Given the description of an element on the screen output the (x, y) to click on. 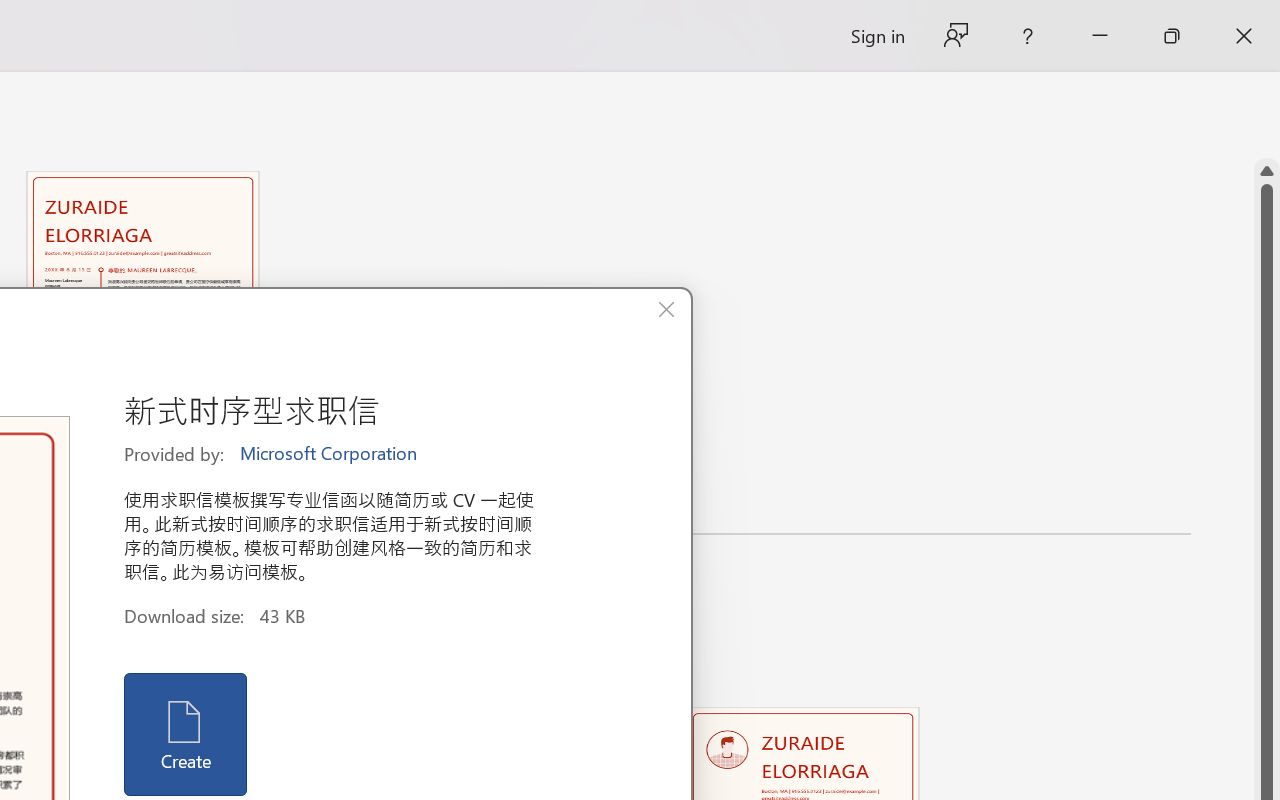
Microsoft Corporation (330, 454)
Line up (1267, 171)
Unpin from list (273, 499)
Create (185, 734)
